Given the description of an element on the screen output the (x, y) to click on. 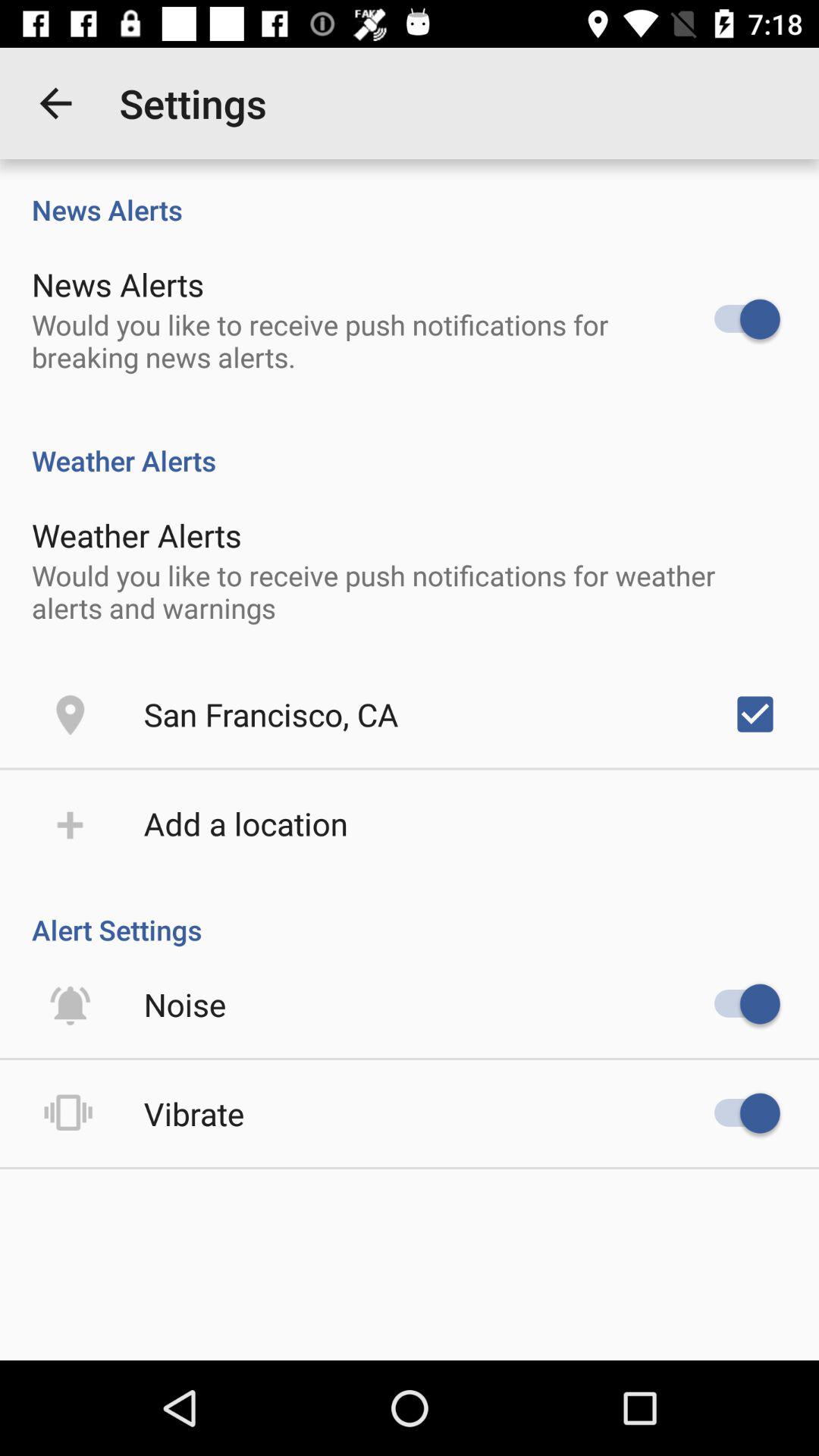
select noise (184, 1004)
